Given the description of an element on the screen output the (x, y) to click on. 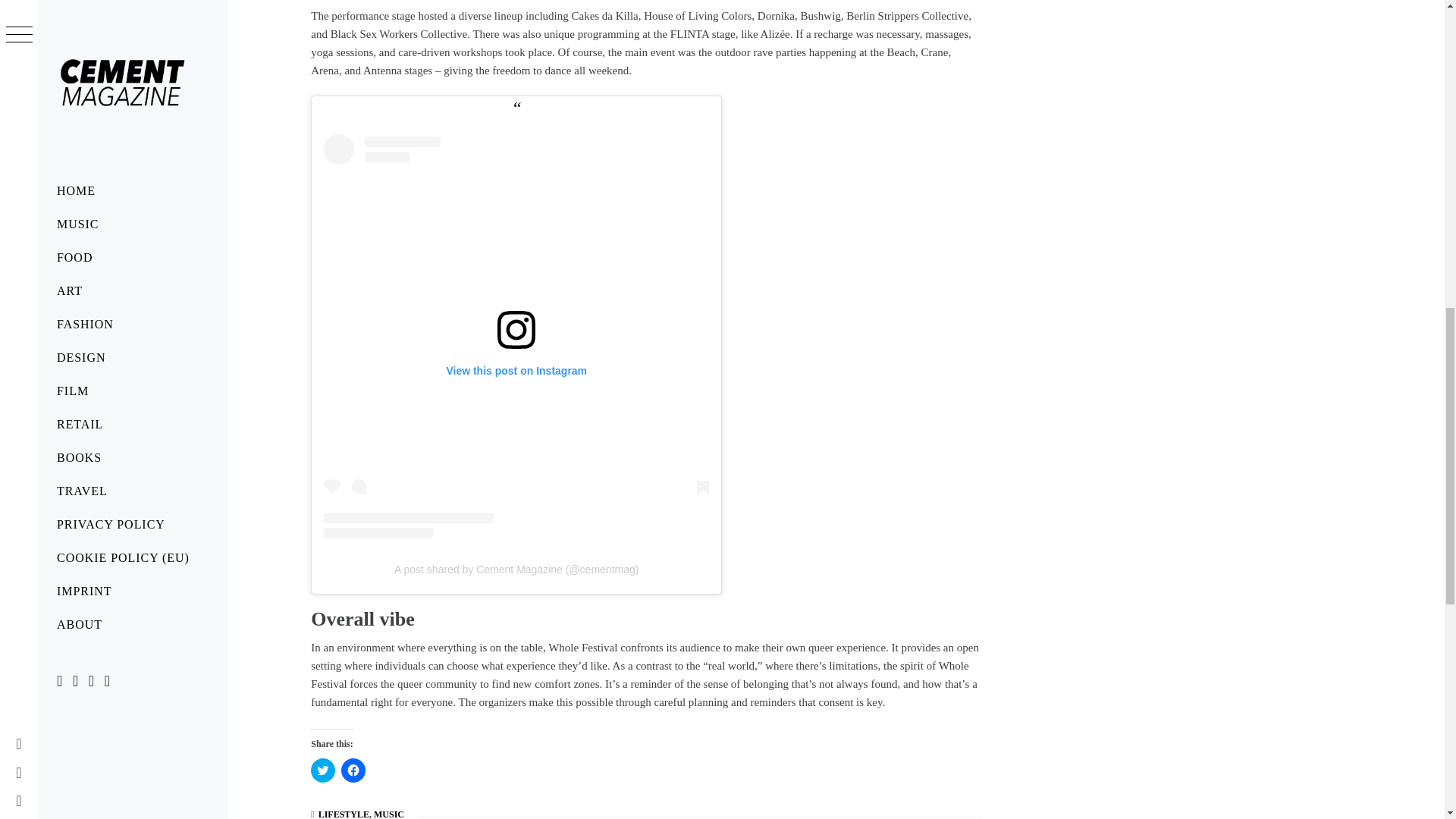
LIFESTYLE (343, 814)
Click to share on Twitter (322, 770)
MUSIC (389, 814)
Click to share on Facebook (352, 770)
